Given the description of an element on the screen output the (x, y) to click on. 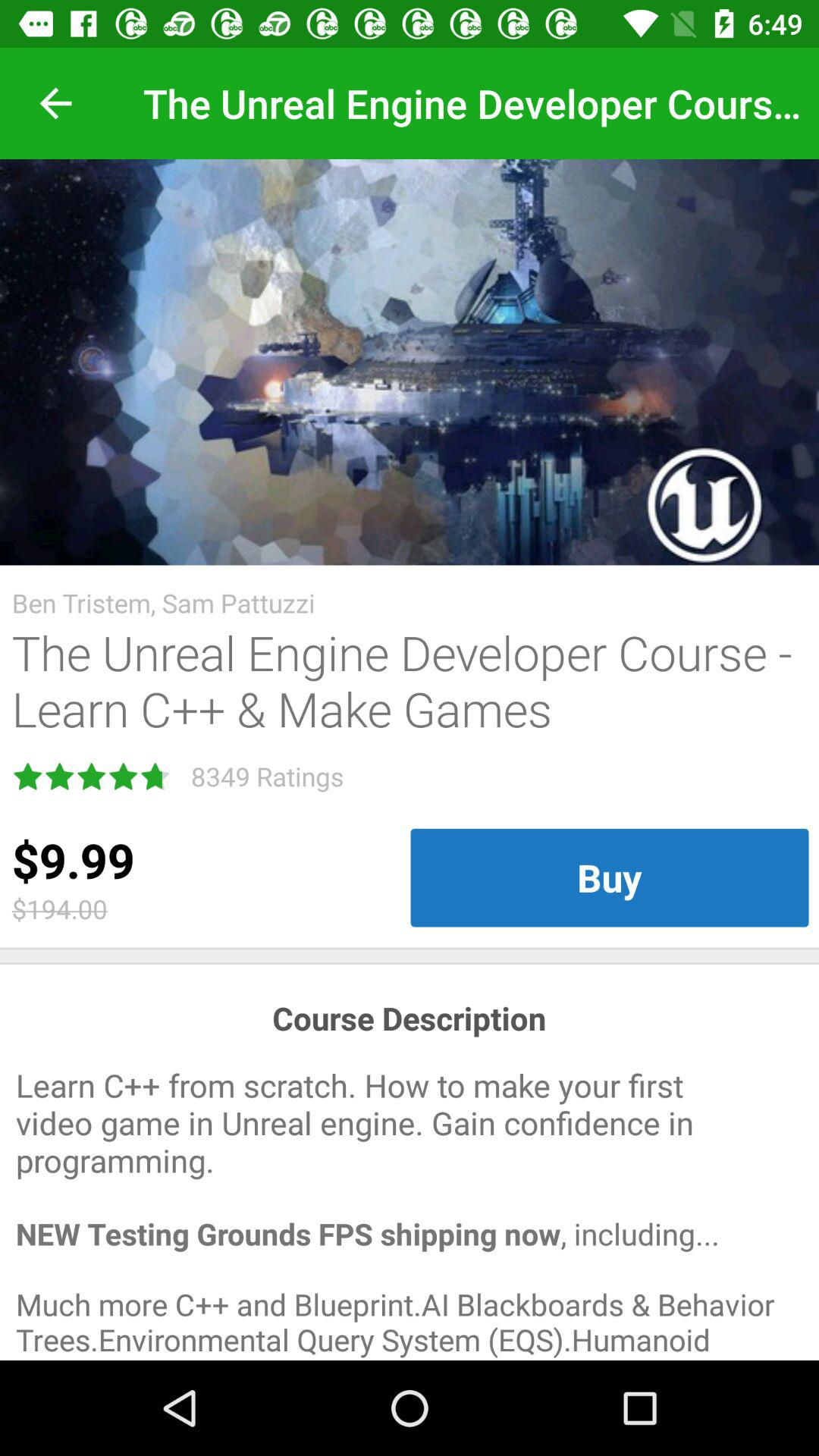
choose item above ben tristem sam icon (409, 362)
